Given the description of an element on the screen output the (x, y) to click on. 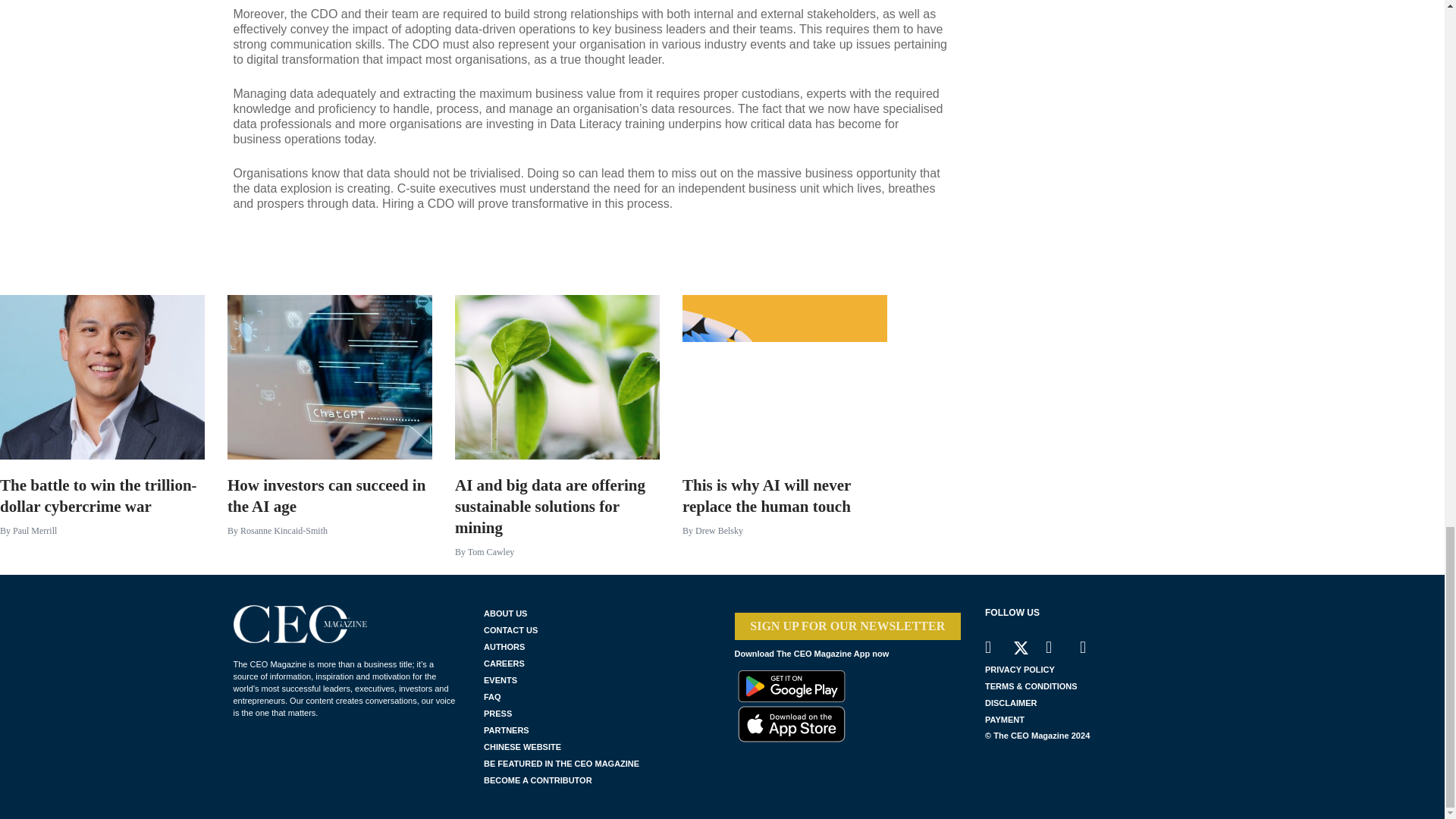
This is why AI will never replace the human touch (784, 548)
How investors can succeed in the AI age (329, 376)
The battle to win the trillion-dollar cybercrime war (102, 376)
The battle to win the trillion-dollar cybercrime war (102, 548)
The battle to win the trillion-dollar cybercrime war (102, 548)
This is why AI will never replace the human touch (784, 376)
How investors can succeed in the AI age (329, 548)
